Given the description of an element on the screen output the (x, y) to click on. 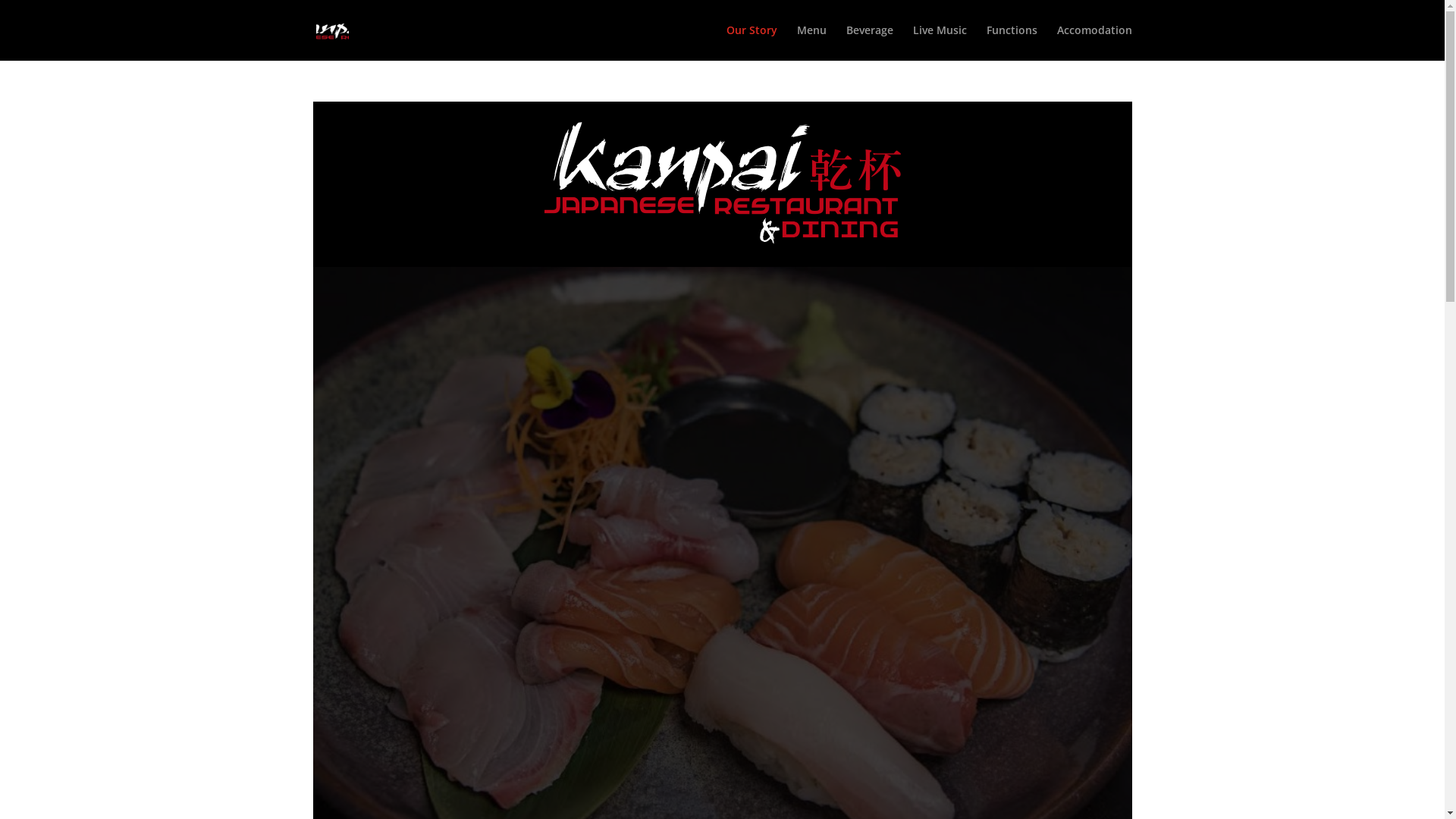
Functions Element type: text (1010, 42)
Beverage Element type: text (869, 42)
Our Story Element type: text (751, 42)
Accomodation Element type: text (1094, 42)
Menu Element type: text (810, 42)
Live Music Element type: text (939, 42)
